Given the description of an element on the screen output the (x, y) to click on. 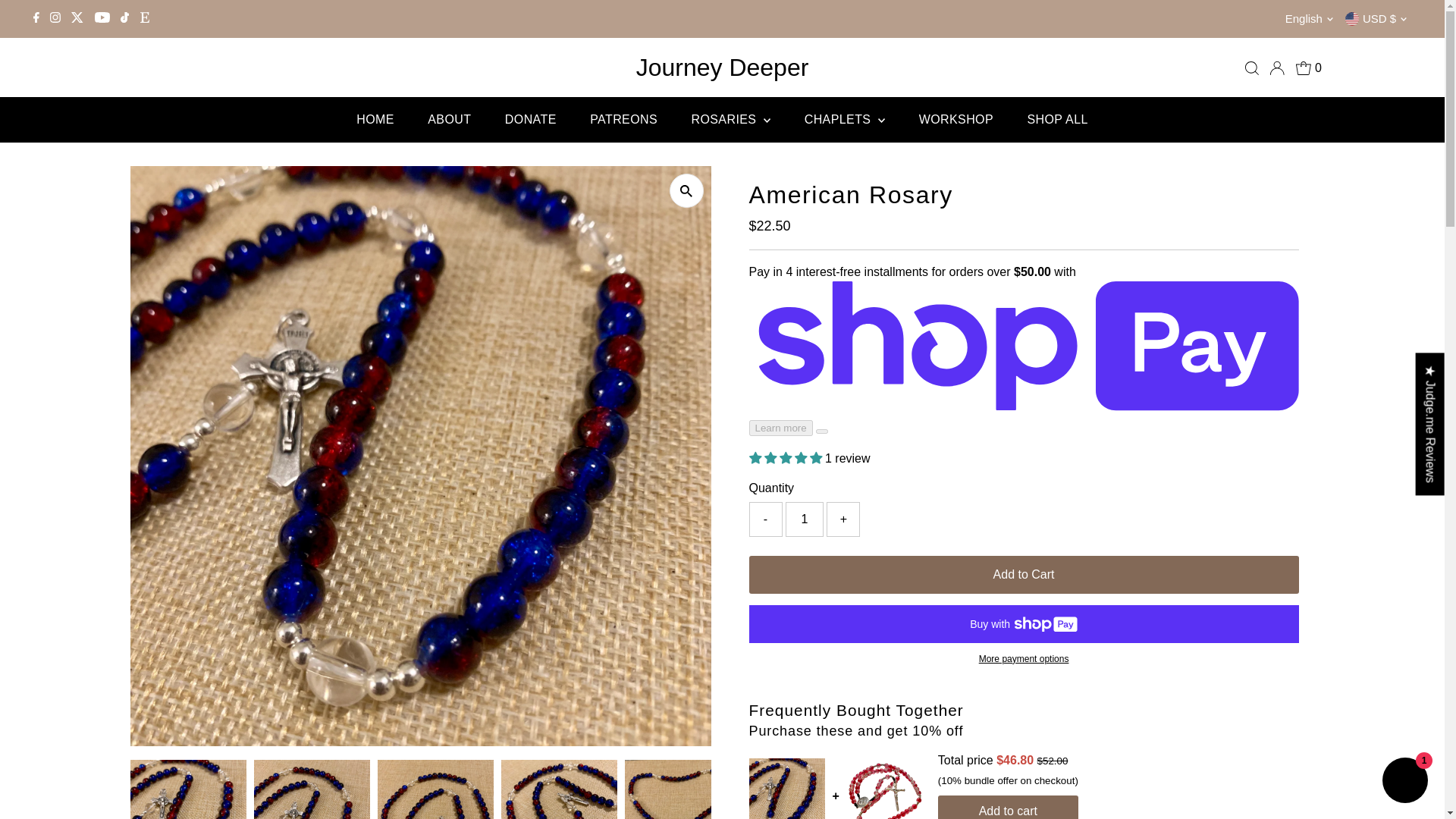
Skip to content (55, 18)
English (1311, 18)
1 (805, 519)
Add to Cart (1023, 574)
